Given the description of an element on the screen output the (x, y) to click on. 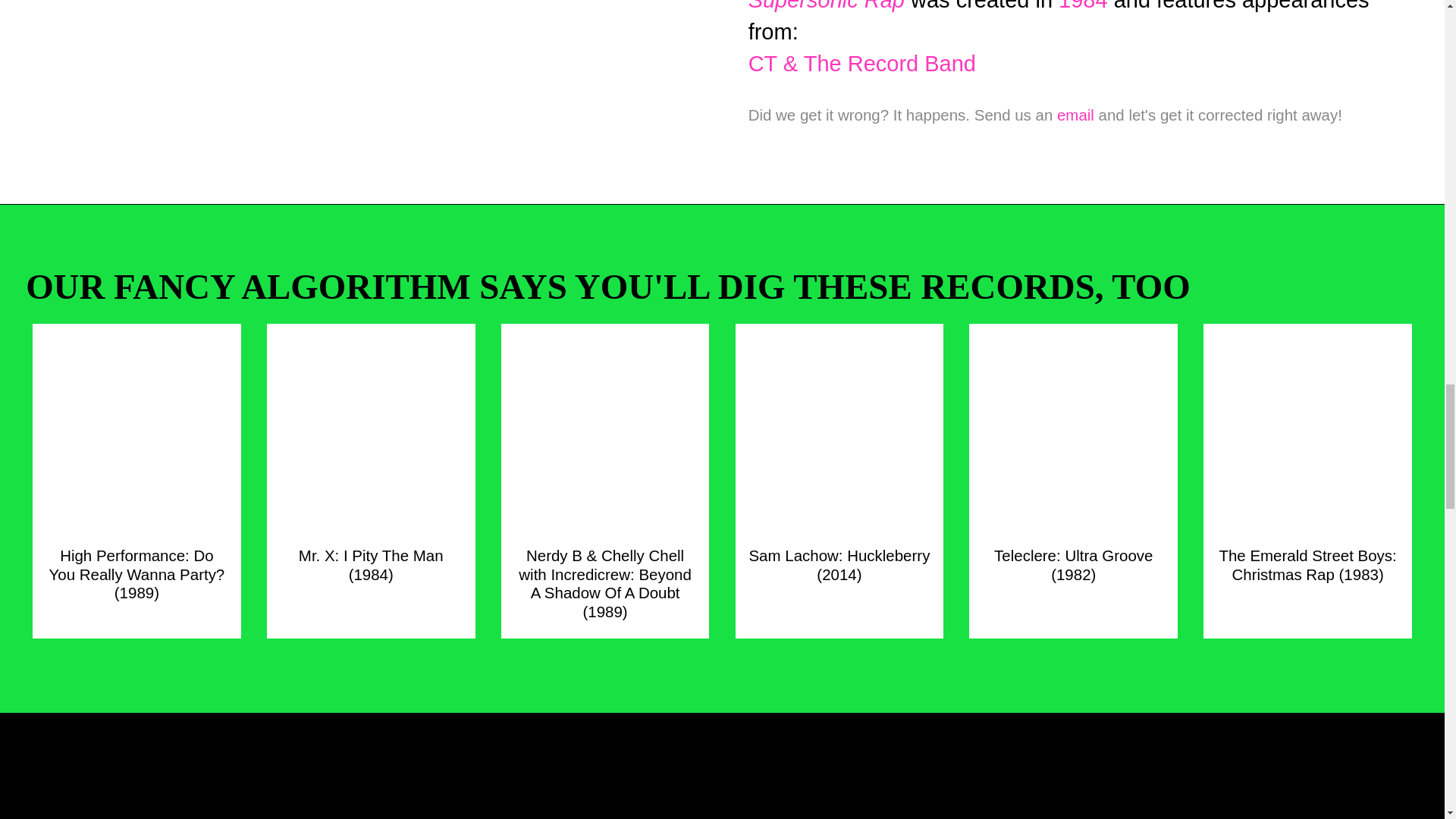
The Emerald Street Boys: Christmas Rap (1308, 556)
email (1075, 114)
Supersonic Rap (826, 6)
Teleclere: Ultra Groove (1073, 556)
1984 (1083, 6)
Sam Lachow: Huckleberry (839, 556)
High Performance: Do You Really Wanna Party? (136, 566)
Mr. X: I Pity The Man (371, 556)
